Given the description of an element on the screen output the (x, y) to click on. 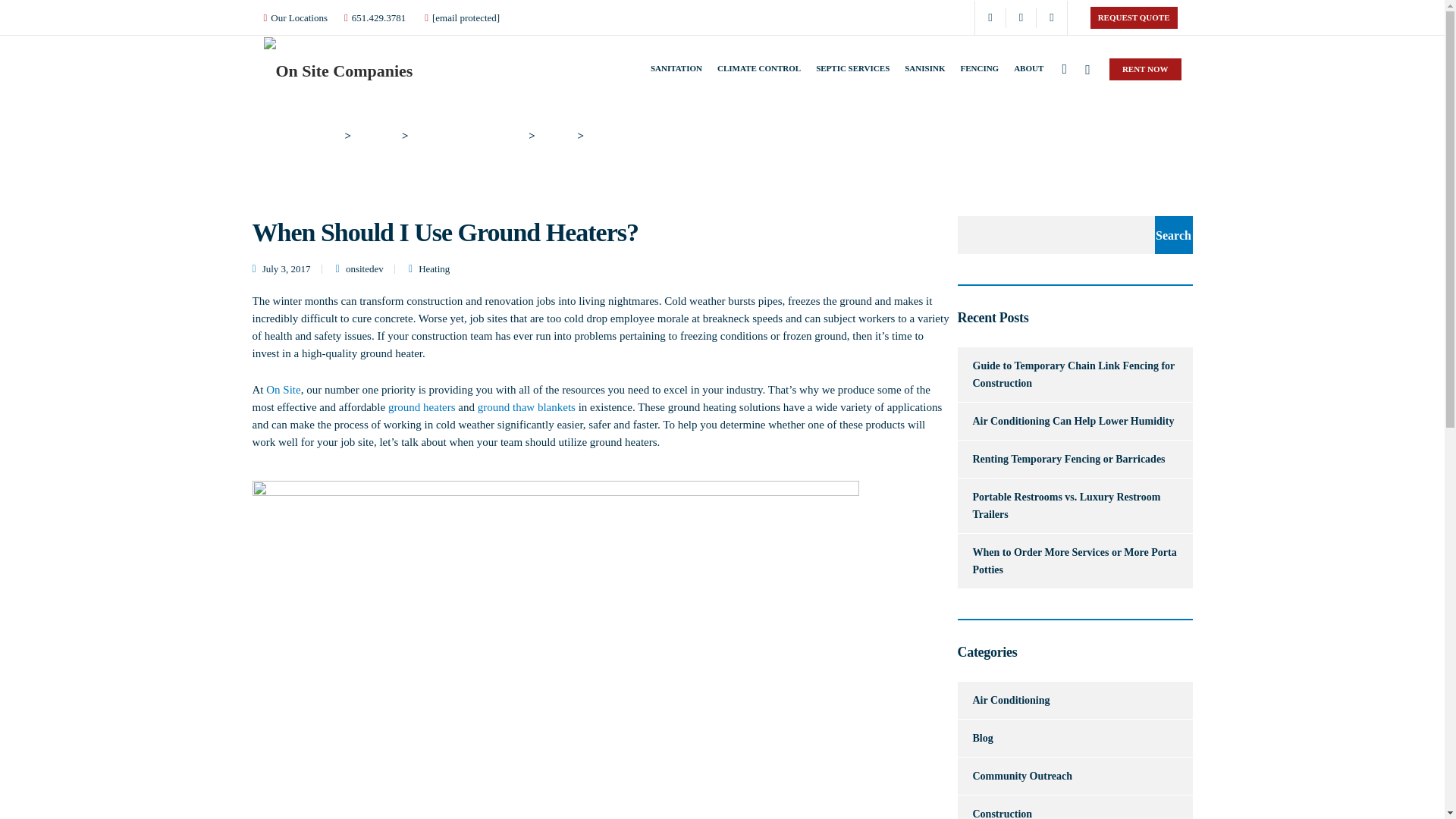
REQUEST QUOTE (1133, 17)
Climate Control Rentals in Duluth, MN (758, 67)
SEPTIC SERVICES (852, 67)
Search (1173, 234)
651.429.3781 (379, 17)
Our Locations (298, 17)
Our Locations (298, 17)
On Site Companies On Facebook (990, 17)
On Site Companies On Linkedin (1021, 17)
CLIMATE CONTROL (758, 67)
On Site Companies On Instagram (1050, 17)
Request Quote (1133, 17)
